Given the description of an element on the screen output the (x, y) to click on. 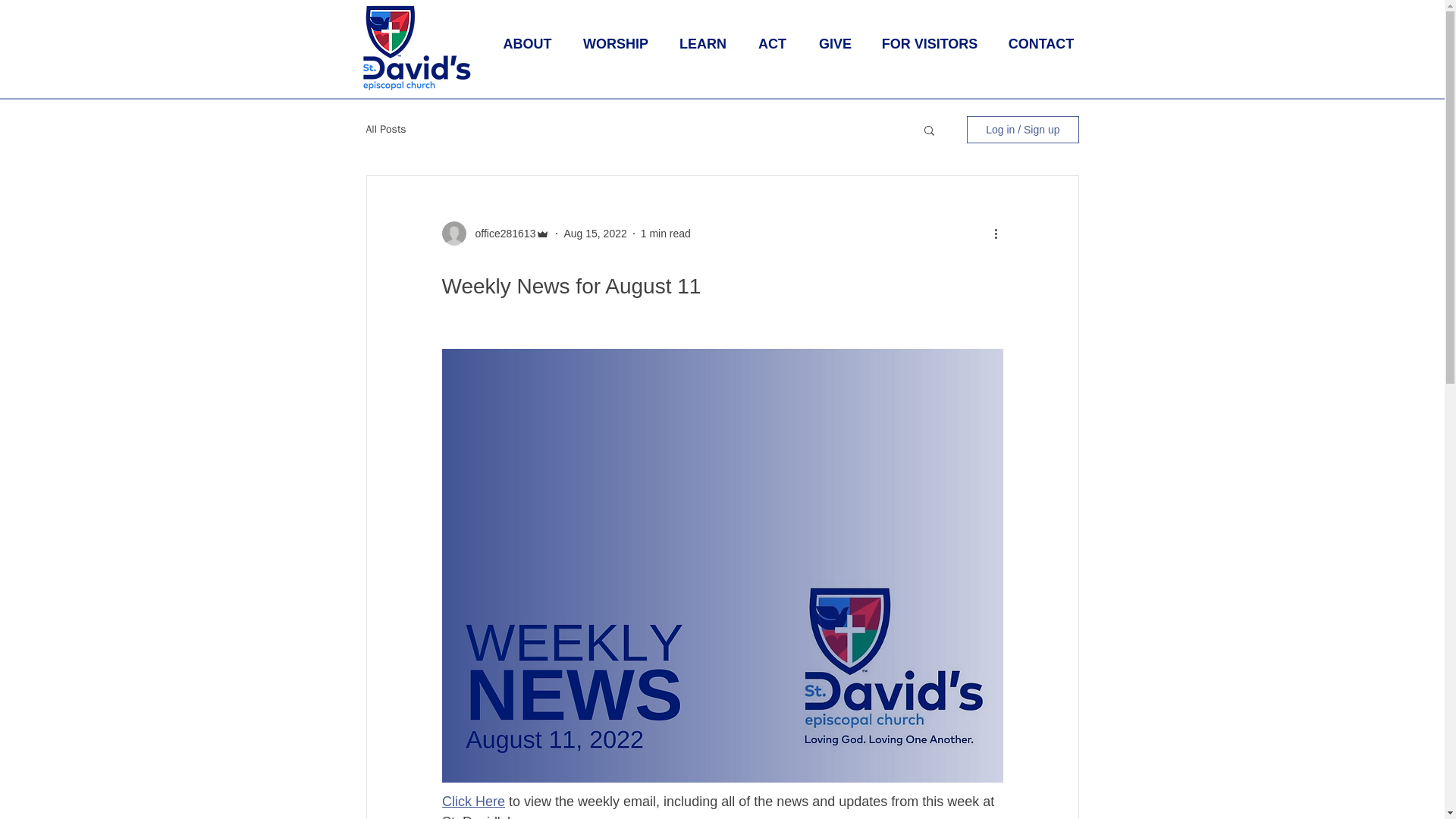
ACT (771, 44)
WORSHIP (615, 44)
office281613 (500, 233)
FOR VISITORS (929, 44)
Aug 15, 2022 (594, 233)
CONTACT (1040, 44)
GIVE (834, 44)
1 min read (665, 233)
ABOUT (526, 44)
Click Here (472, 801)
LEARN (702, 44)
All Posts (385, 129)
